Given the description of an element on the screen output the (x, y) to click on. 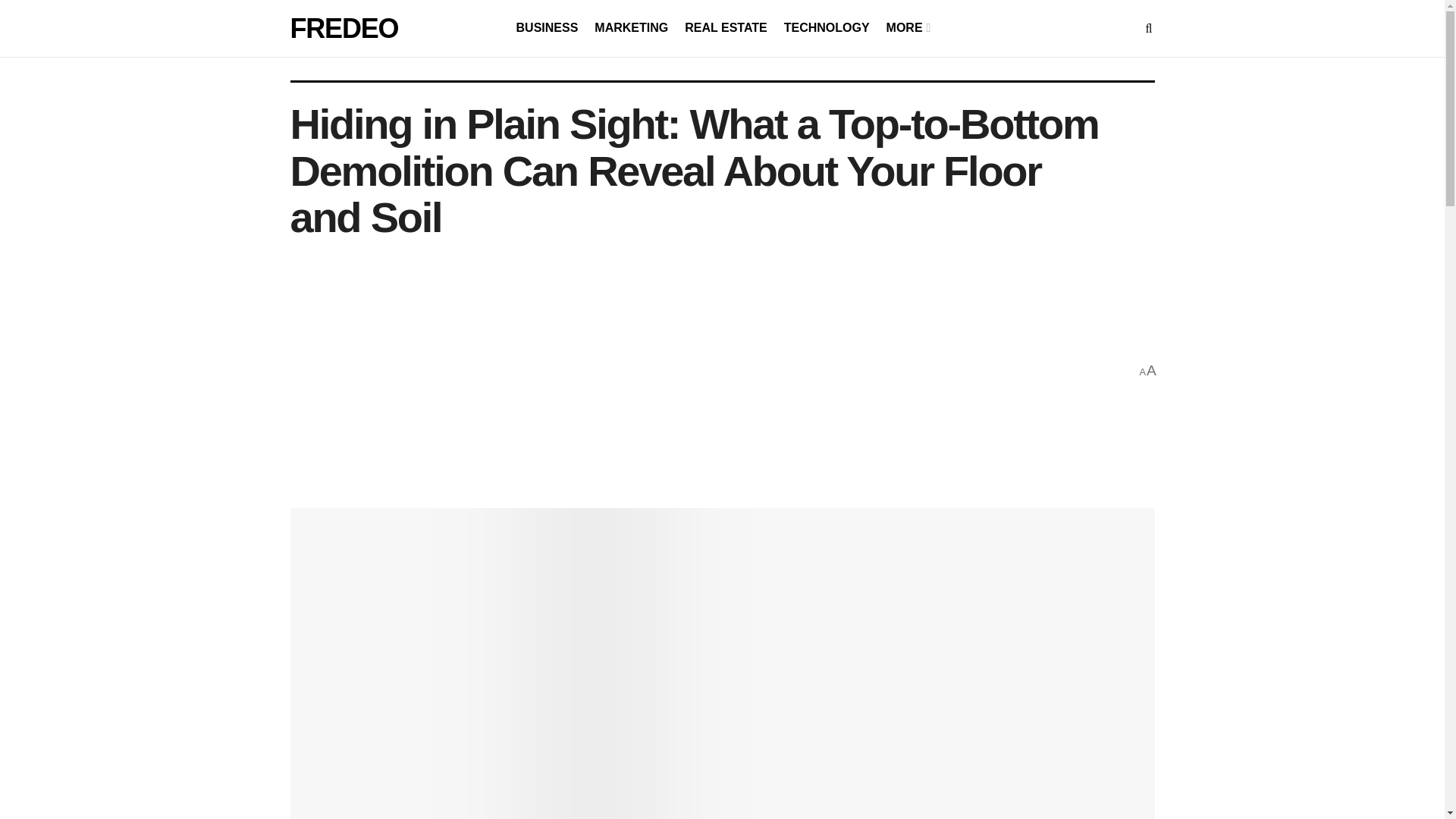
MORE (907, 27)
BUSINESS (547, 27)
FREDEO (343, 28)
TECHNOLOGY (826, 27)
REAL ESTATE (725, 27)
MARKETING (631, 27)
